Given the description of an element on the screen output the (x, y) to click on. 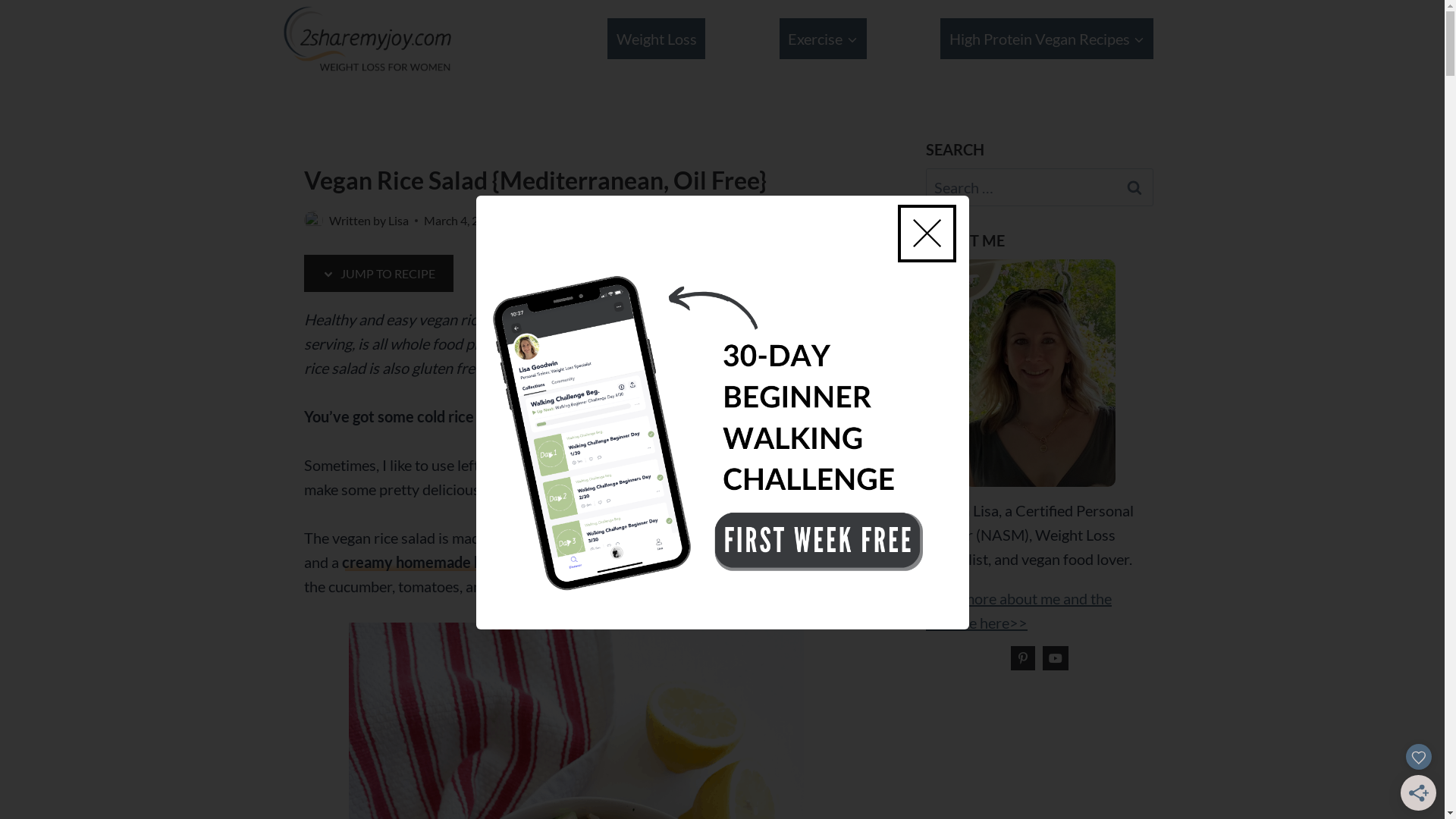
JUMP TO RECIPE Element type: text (378, 273)
Read more about me and the website here>> Element type: text (1039, 610)
Search Element type: text (1134, 187)
WALKING CHALLENGE POP UP Element type: hover (721, 428)
Lisa Element type: text (398, 220)
High Protein Vegan Recipes Element type: text (1046, 38)
Weight Loss Element type: text (656, 38)
Exercise Element type: text (822, 38)
creamy homemade hummus dressing Element type: text (466, 561)
